Given the description of an element on the screen output the (x, y) to click on. 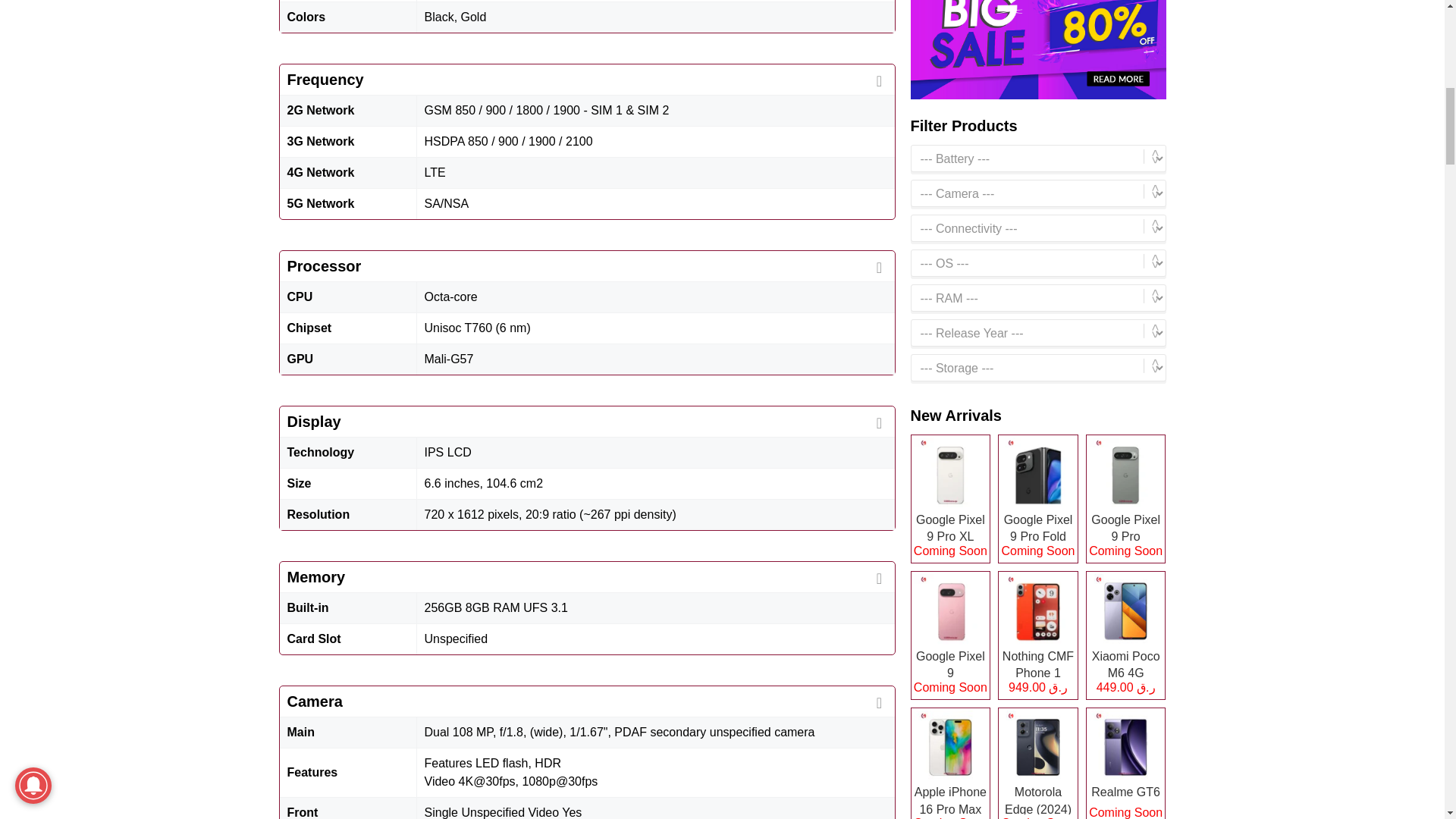
Google Pixel 9 Pro (1126, 498)
Google Pixel 9 Pro Fold (1037, 498)
Google Pixel 9 (950, 635)
Xiaomi Poco M6 4G (1126, 635)
Google Pixel 9 Pro XL (950, 498)
Nothing CMF Phone 1 (1037, 635)
Realme GT6 (1126, 763)
Apple iPhone 16 Pro Max (950, 763)
